Given the description of an element on the screen output the (x, y) to click on. 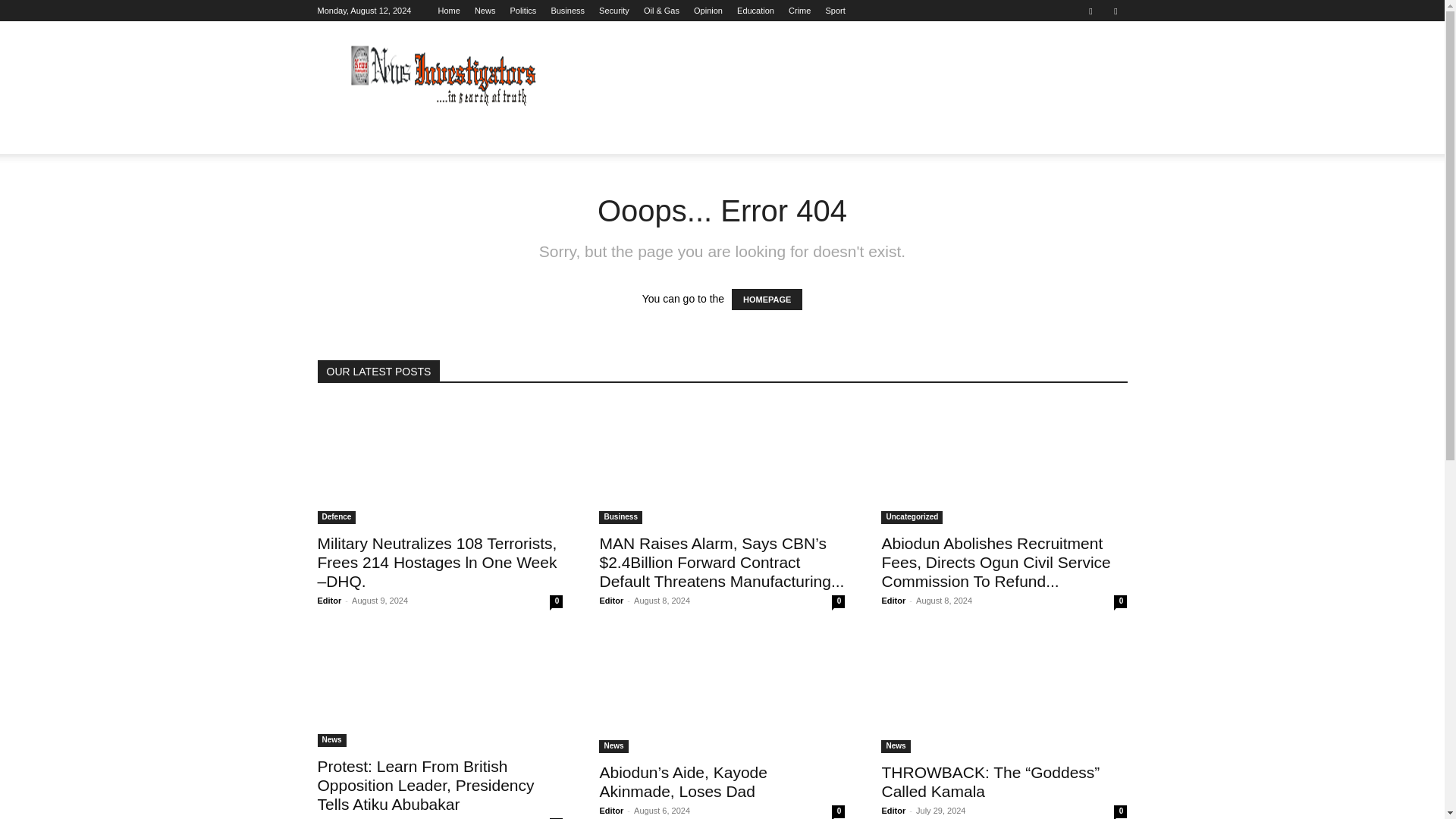
NEWS (396, 135)
Politics (522, 10)
Sport (834, 10)
News (485, 10)
Crime (799, 10)
POLITICS (458, 135)
BUSINESS (531, 135)
SECURITY (607, 135)
